Given the description of an element on the screen output the (x, y) to click on. 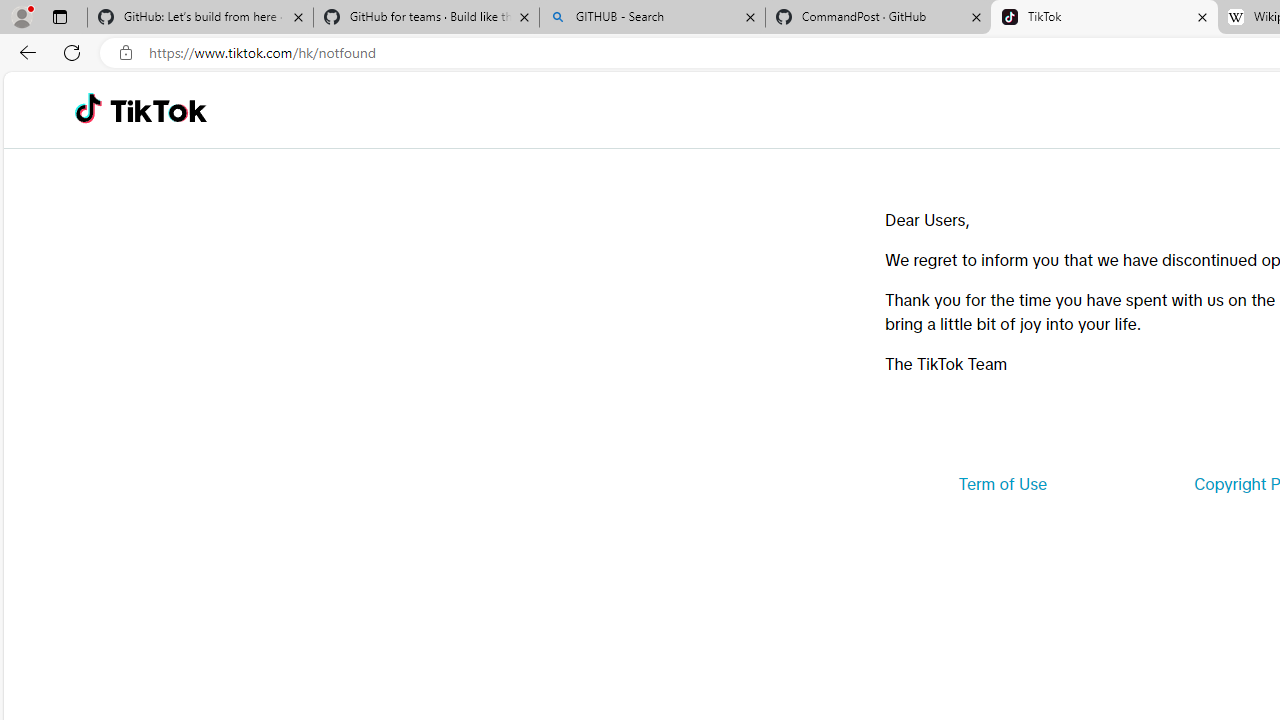
TikTok (1104, 17)
GITHUB - Search (652, 17)
TikTok (158, 110)
Term of Use (1002, 484)
